Given the description of an element on the screen output the (x, y) to click on. 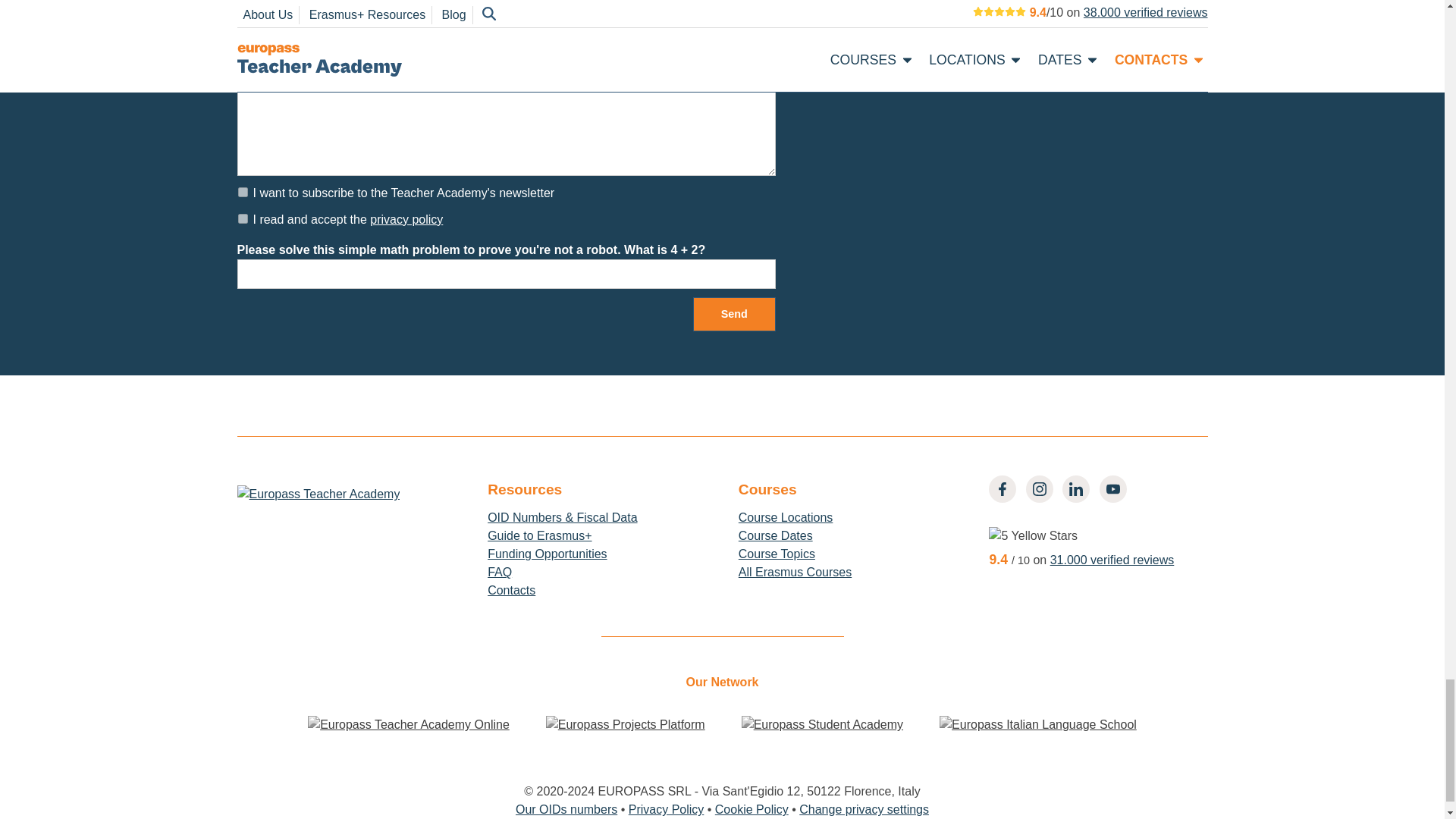
Send (734, 314)
Europass Italian Language School (1038, 724)
Europass Projects Platform (625, 724)
Europass Teacher Academy Online (408, 724)
1 (242, 192)
1 (242, 218)
Europass Student Academy (821, 724)
